Given the description of an element on the screen output the (x, y) to click on. 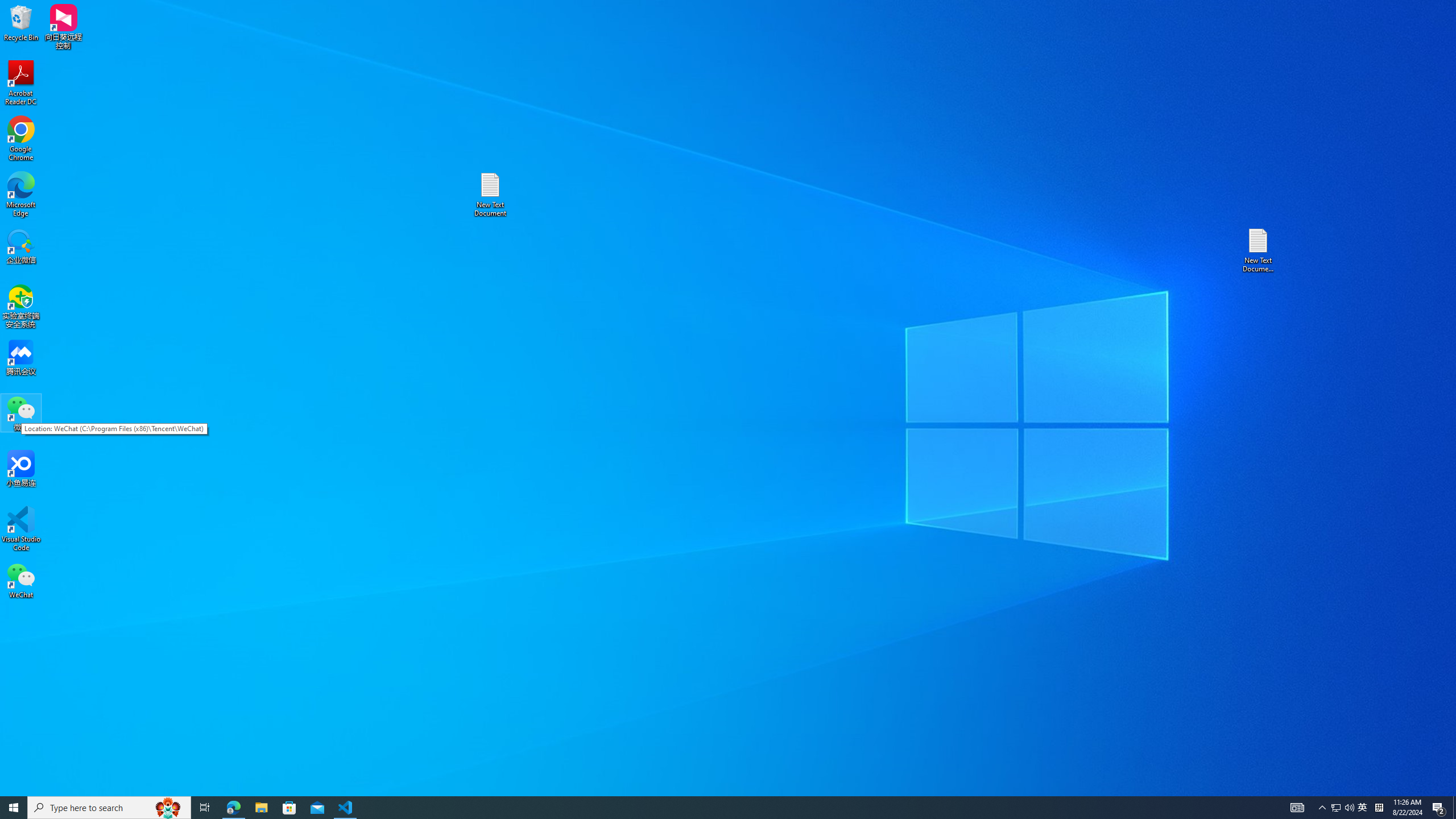
Start (13, 807)
Notification Chevron (1322, 807)
